Given the description of an element on the screen output the (x, y) to click on. 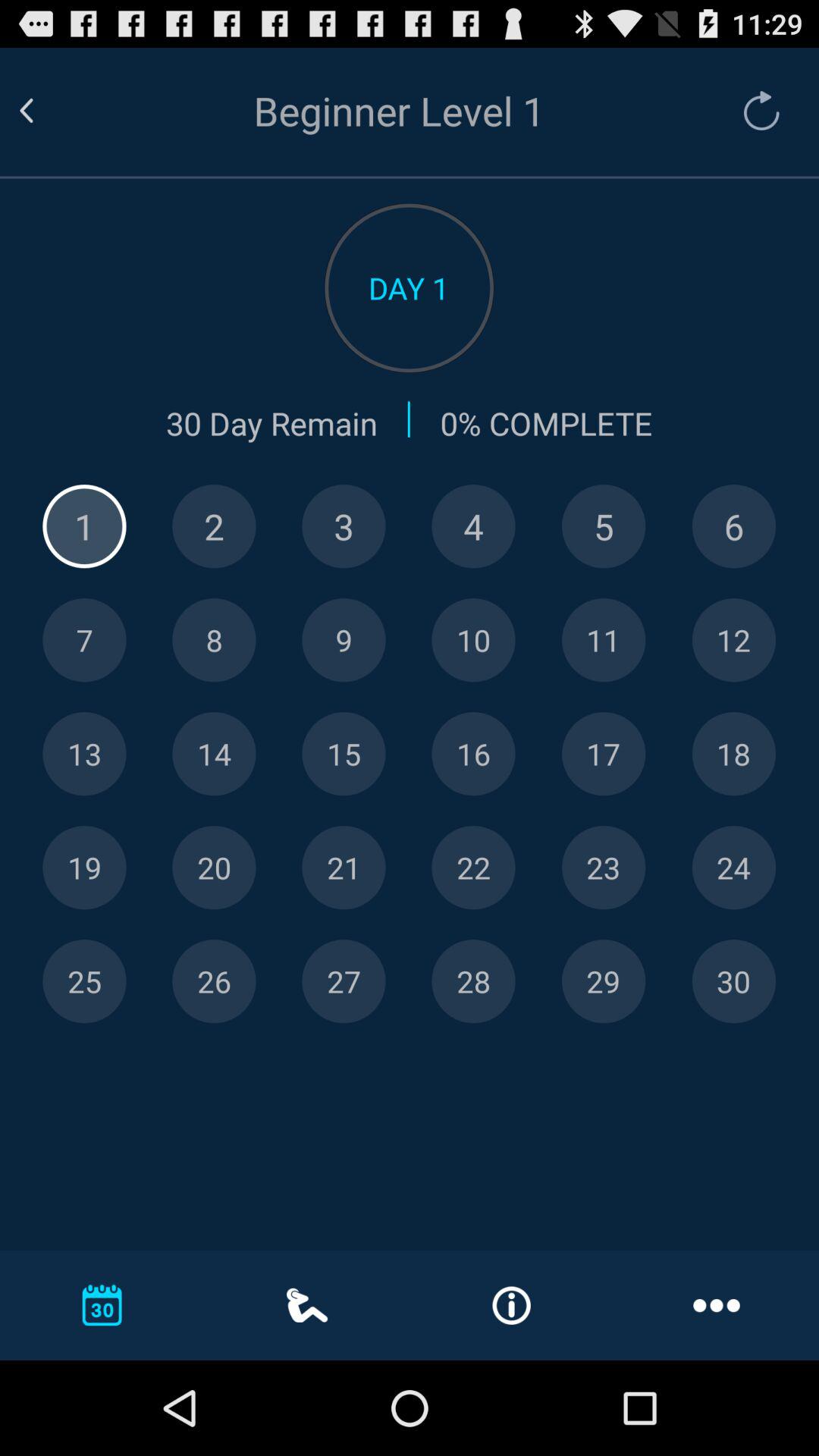
go to keyboard (343, 981)
